Given the description of an element on the screen output the (x, y) to click on. 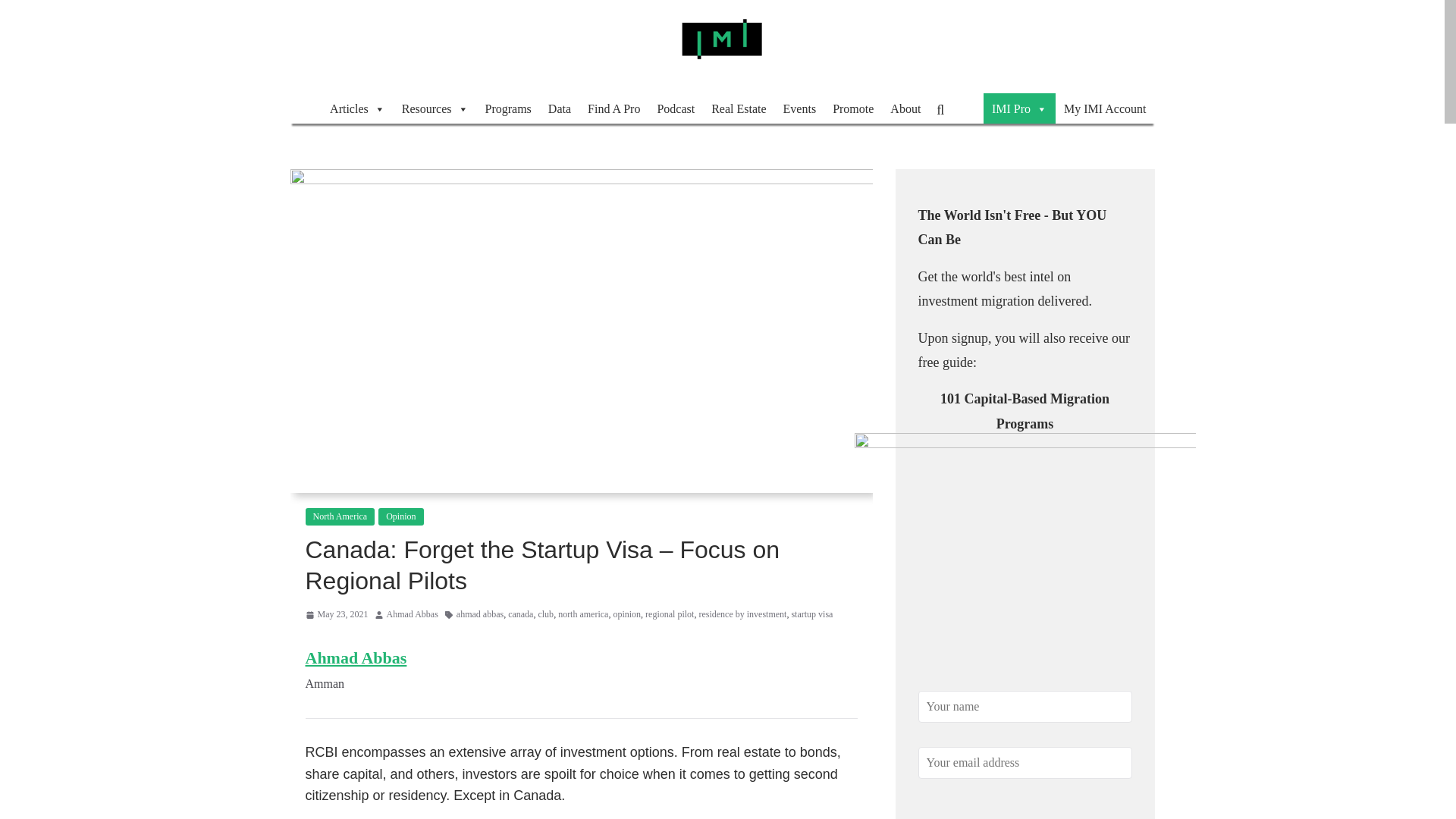
11:04 am (336, 614)
Articles (357, 108)
Ahmad Abbas (412, 614)
